Given the description of an element on the screen output the (x, y) to click on. 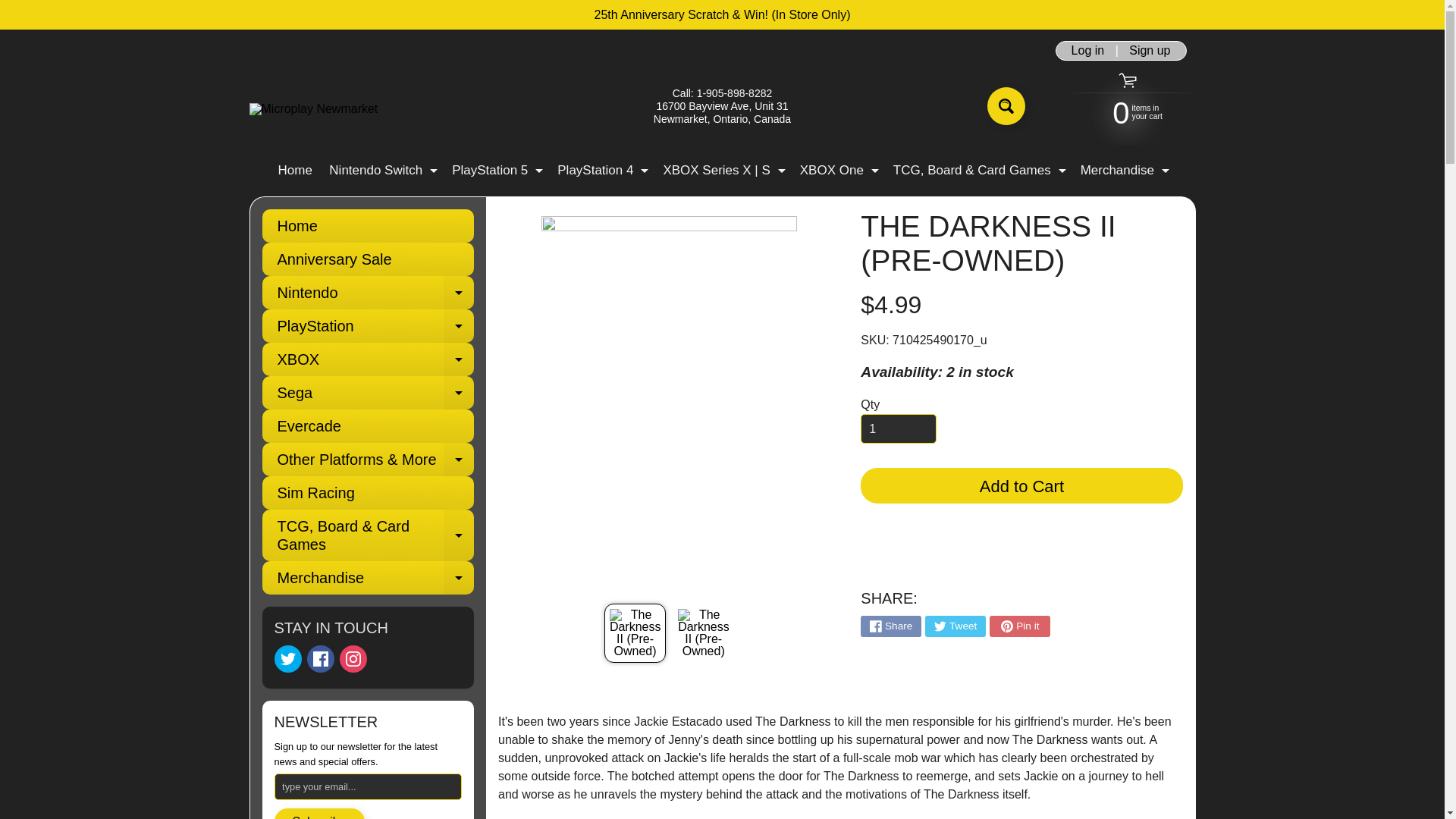
Skip to content (22, 8)
Search (1006, 105)
Log in (1088, 50)
Microplay Newmarket (496, 170)
Sign up (312, 109)
Facebook (1149, 50)
Instagram (837, 170)
